Given the description of an element on the screen output the (x, y) to click on. 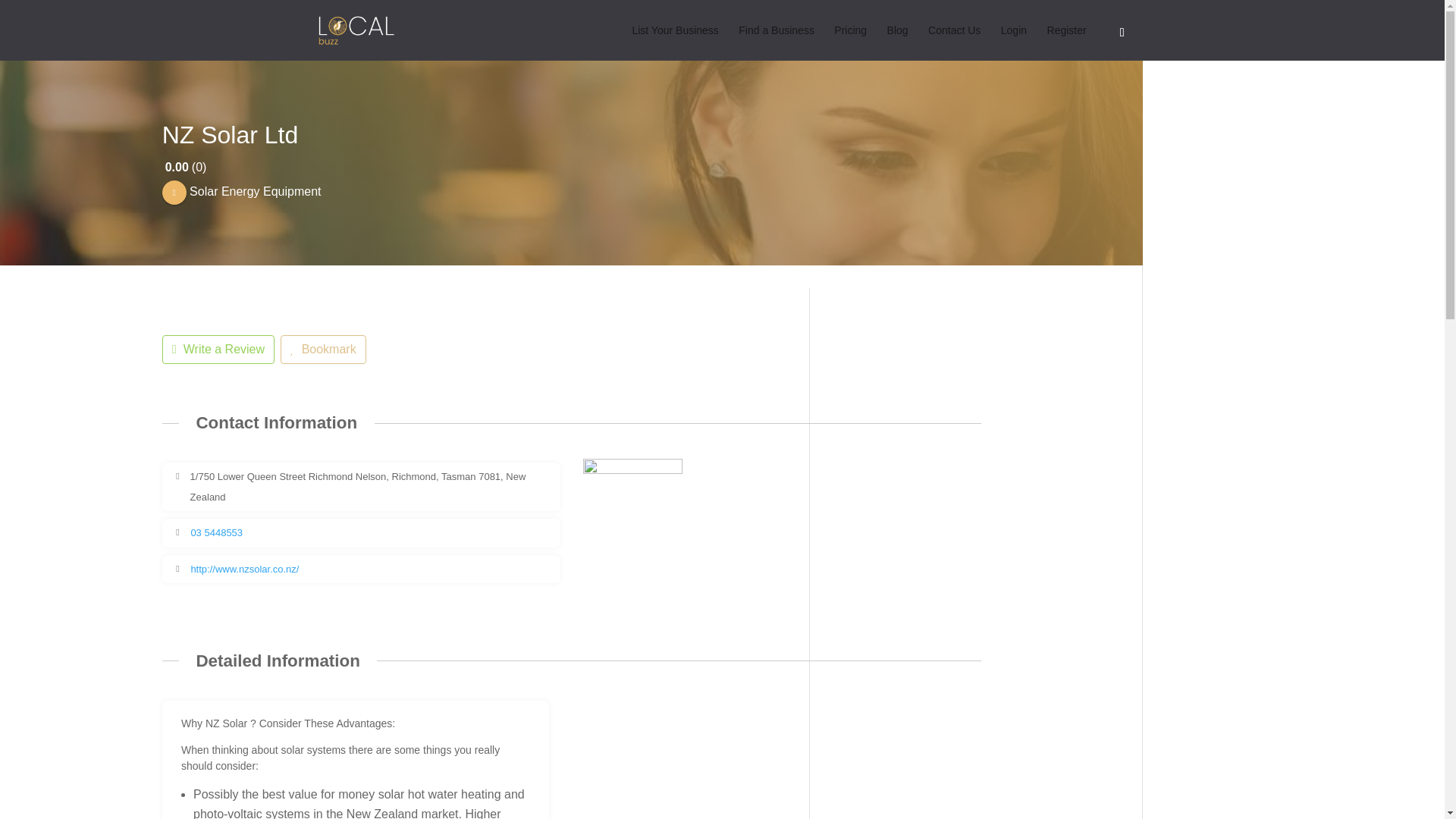
03 5448553 (216, 532)
Solar Energy Equipment (241, 191)
Pricing (850, 42)
Write a Review (218, 348)
Login (1013, 42)
Register (1066, 42)
Blog (897, 42)
Find a Business (775, 42)
Bookmark (323, 348)
List Your Business (674, 42)
Contact Us (953, 42)
